Given the description of an element on the screen output the (x, y) to click on. 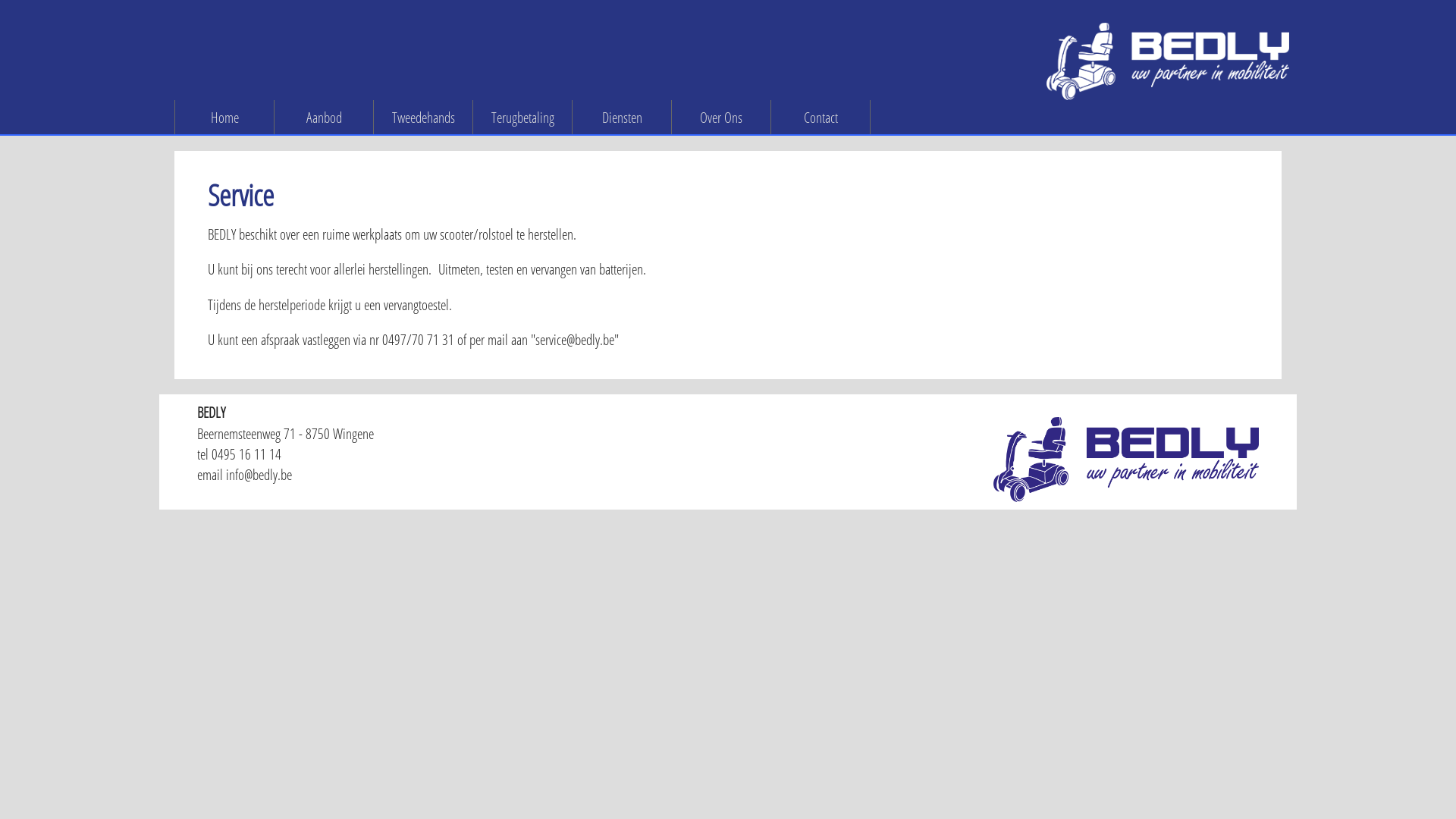
Over Ons Element type: text (721, 117)
Aanbod Element type: text (323, 117)
Terugbetaling Element type: text (522, 117)
Home Element type: text (224, 117)
Tweedehands Element type: text (423, 117)
Diensten Element type: text (621, 117)
Contact Element type: text (820, 117)
